Given the description of an element on the screen output the (x, y) to click on. 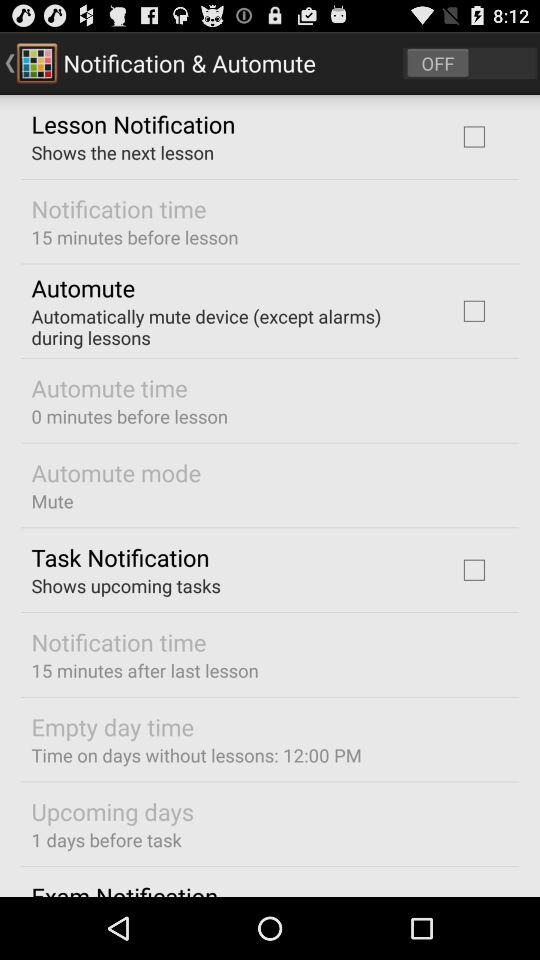
press shows upcoming tasks icon (125, 585)
